Given the description of an element on the screen output the (x, y) to click on. 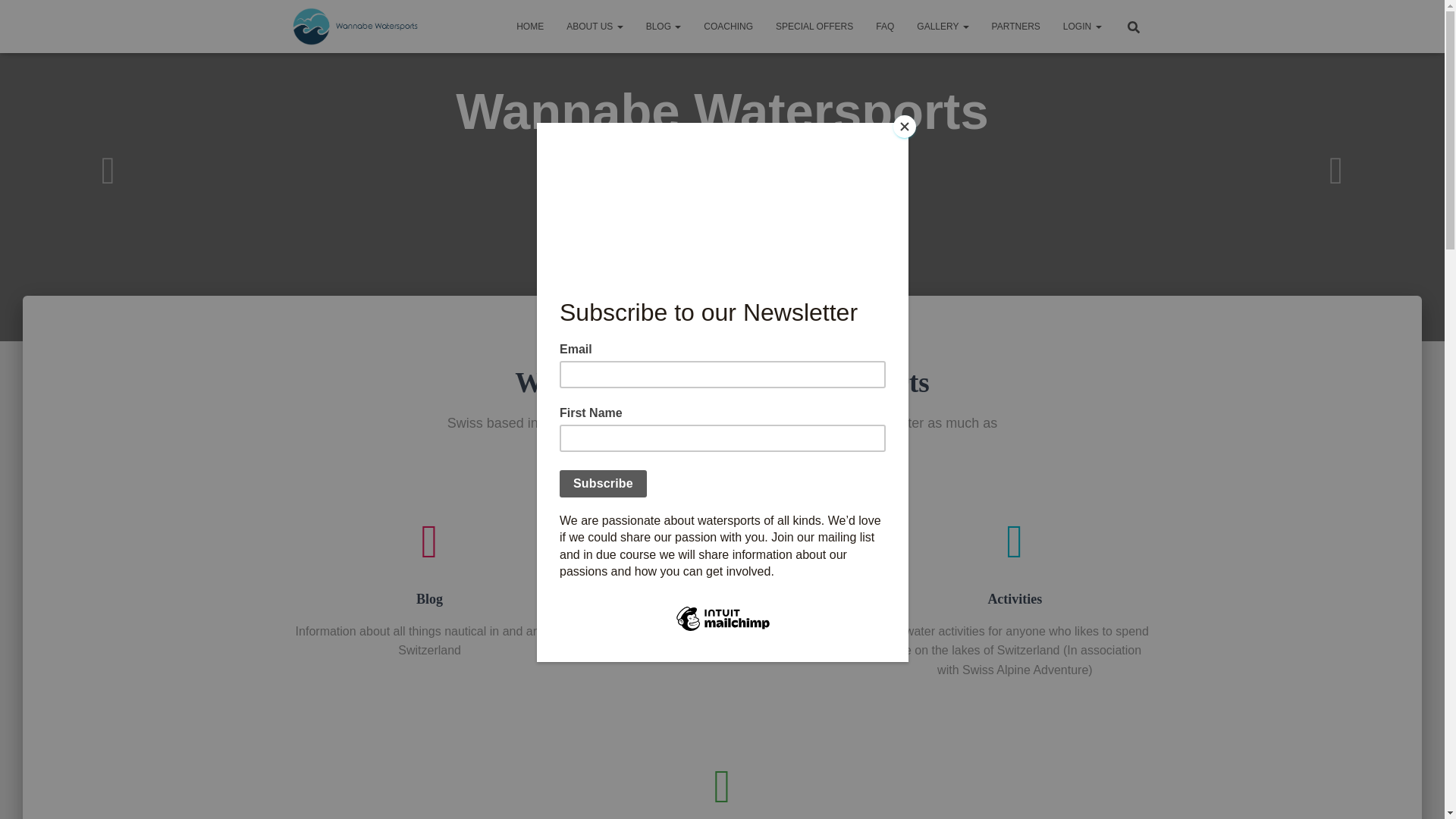
Home (529, 26)
About Us (593, 26)
Coaching (722, 564)
Activities (1014, 564)
LOGIN (1082, 26)
Coaching (728, 26)
Login (1082, 26)
SPECIAL OFFERS (814, 26)
Contact Us (722, 791)
FAQ (884, 26)
